Given the description of an element on the screen output the (x, y) to click on. 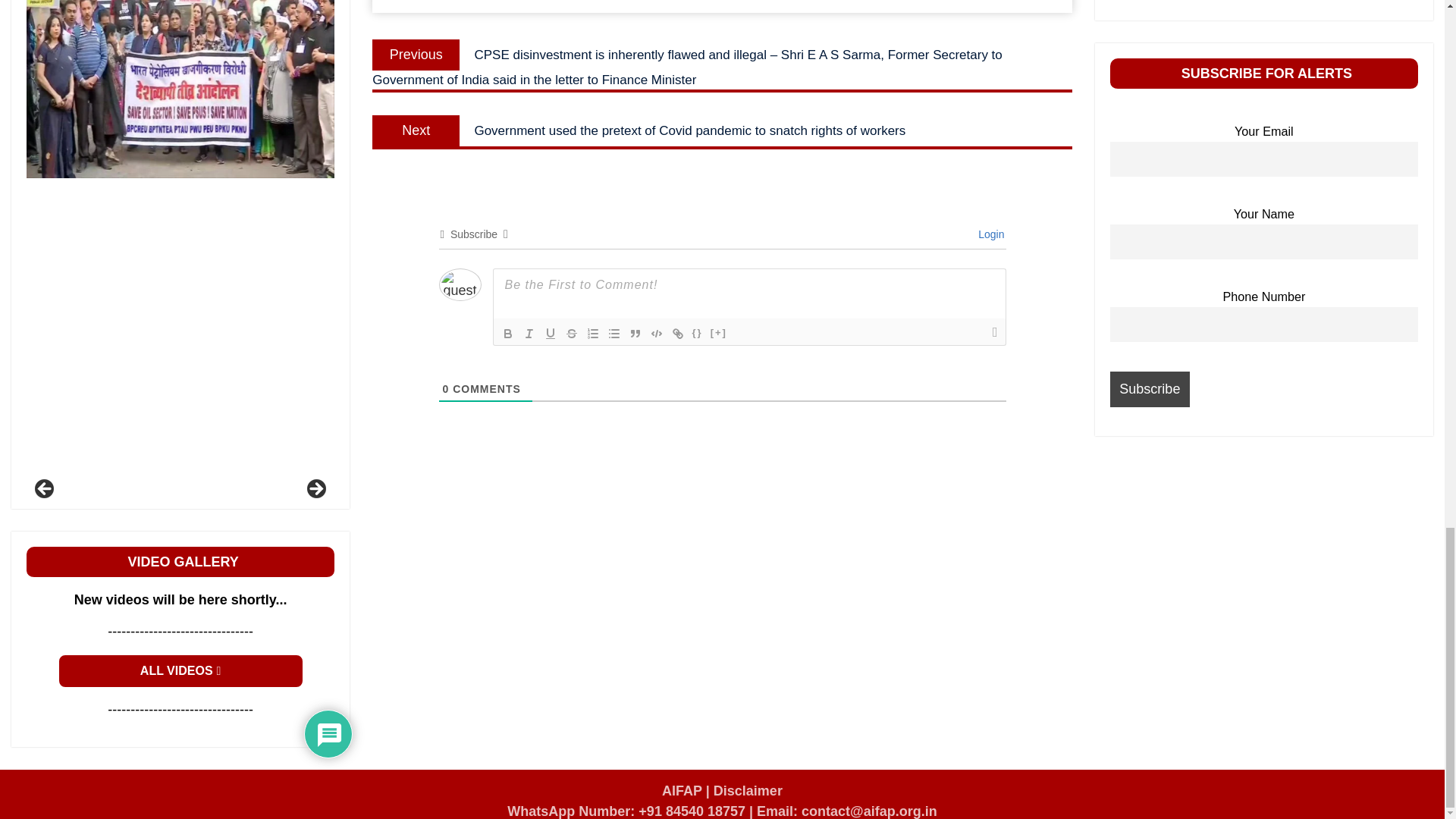
Blockquote (635, 333)
Code Block (656, 333)
bullet (614, 333)
Ordered List (593, 333)
Underline (550, 333)
Bold (507, 333)
ordered (593, 333)
Link (677, 333)
Strike (571, 333)
